Given the description of an element on the screen output the (x, y) to click on. 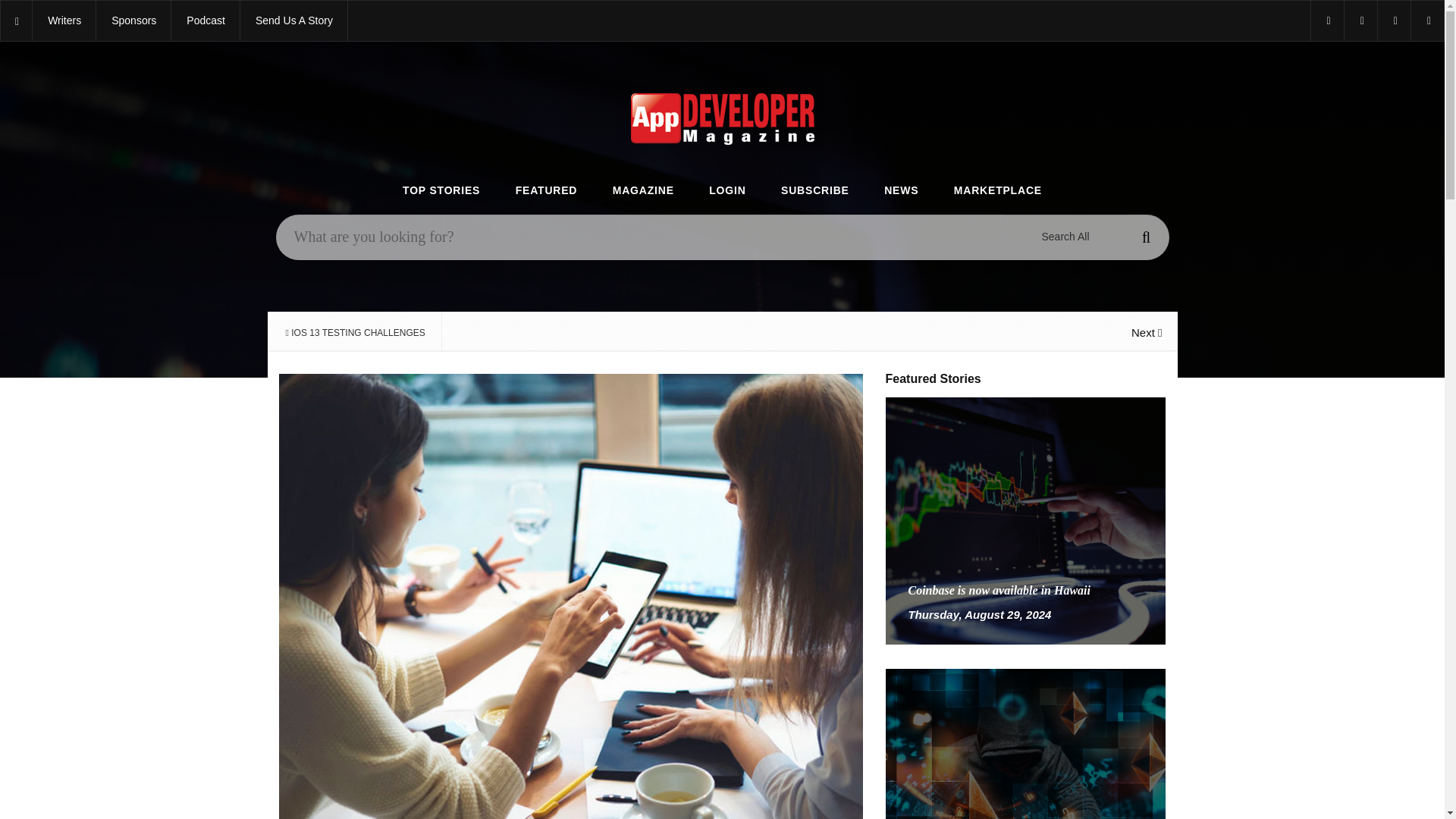
Podcast (205, 20)
Send Us A Story (293, 20)
Our Writers (64, 20)
Writers (64, 20)
MAGAZINE (643, 190)
NEWS (900, 190)
TOP STORIES (441, 190)
LOGIN (727, 190)
App Developer Magazine (205, 20)
